Given the description of an element on the screen output the (x, y) to click on. 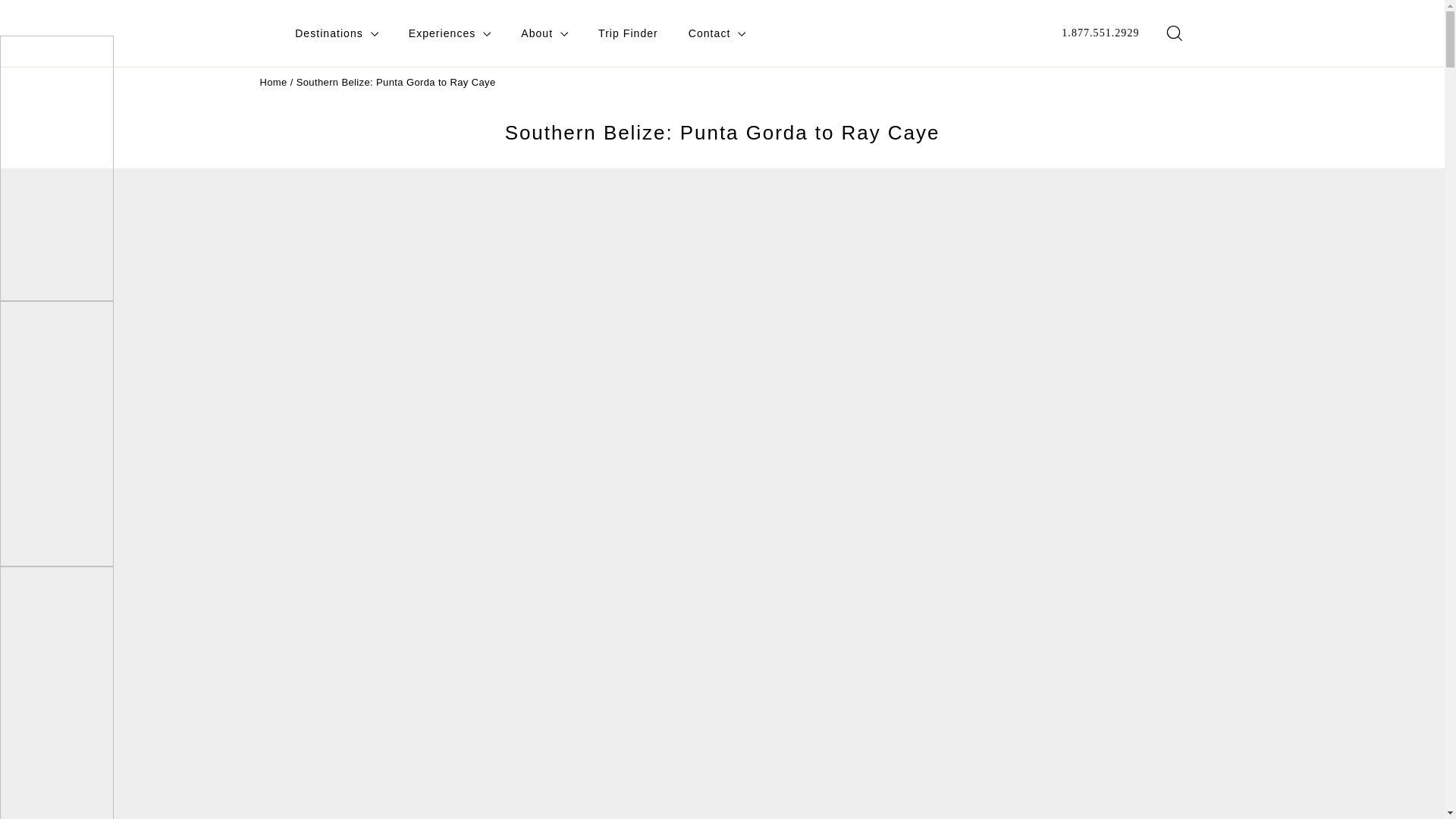
Destinations (336, 33)
Back to the frontpage (272, 81)
Experiences (449, 33)
